Given the description of an element on the screen output the (x, y) to click on. 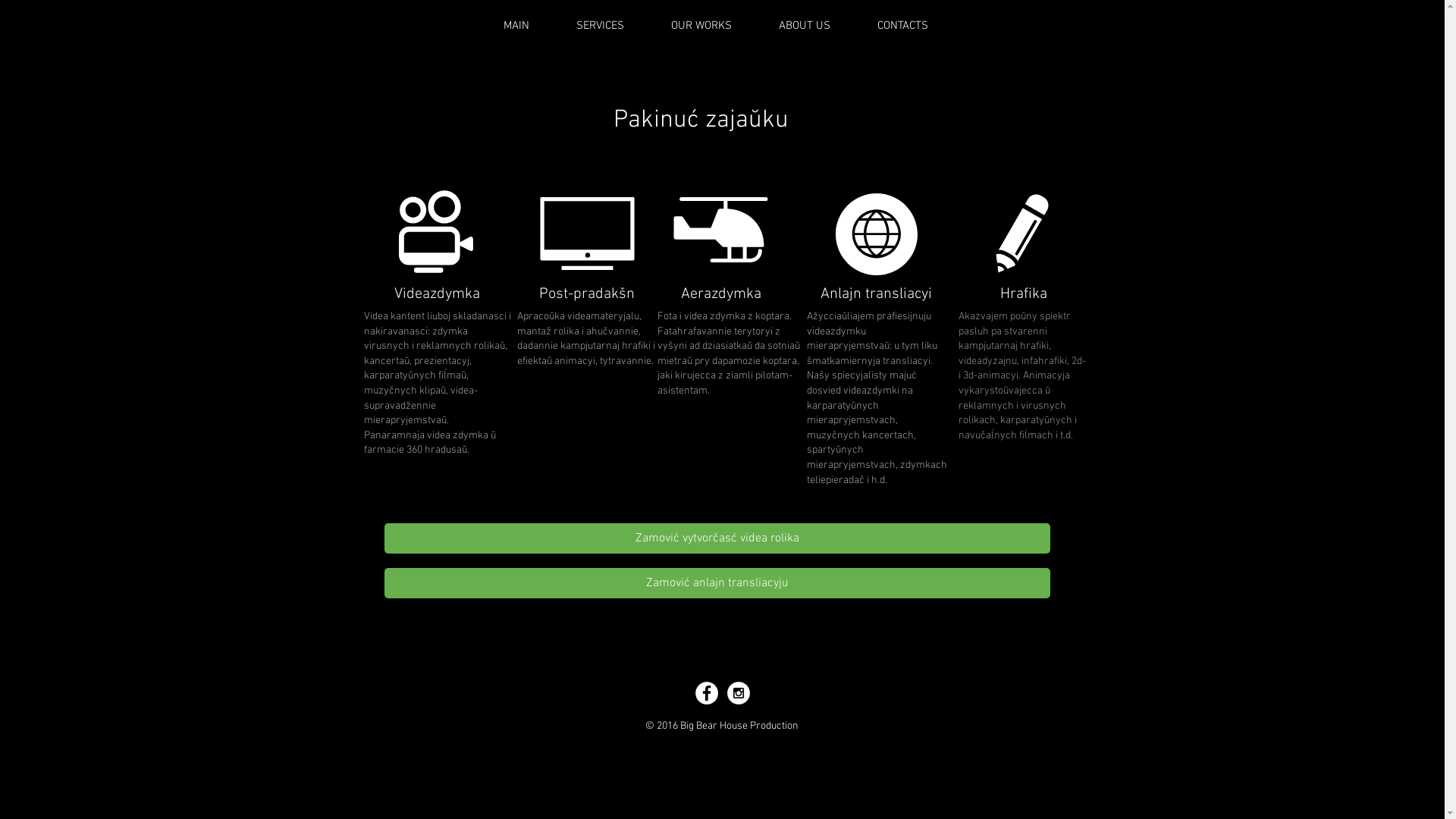
MAIN Element type: text (515, 25)
CONTACTS Element type: text (902, 25)
OUR WORKS Element type: text (701, 25)
ABOUT US Element type: text (804, 25)
SERVICES Element type: text (599, 25)
